Given the description of an element on the screen output the (x, y) to click on. 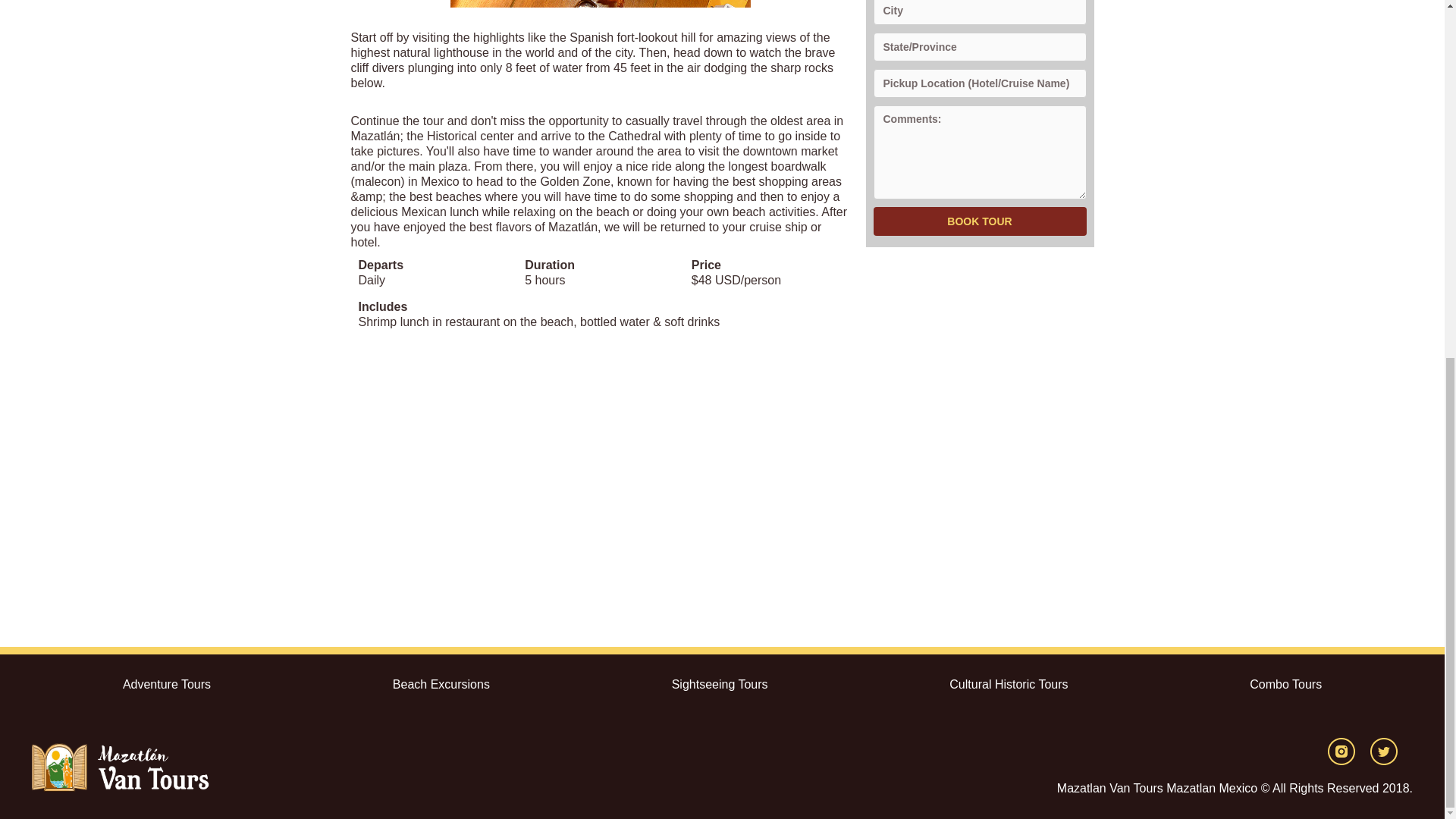
Book Tour (979, 221)
Cultural Historic Tours (1007, 684)
Beach Excursions (440, 684)
Book Tour (979, 221)
Combo Tours (1285, 684)
Adventure Tours (166, 684)
Sightseeing Tours (719, 684)
